Given the description of an element on the screen output the (x, y) to click on. 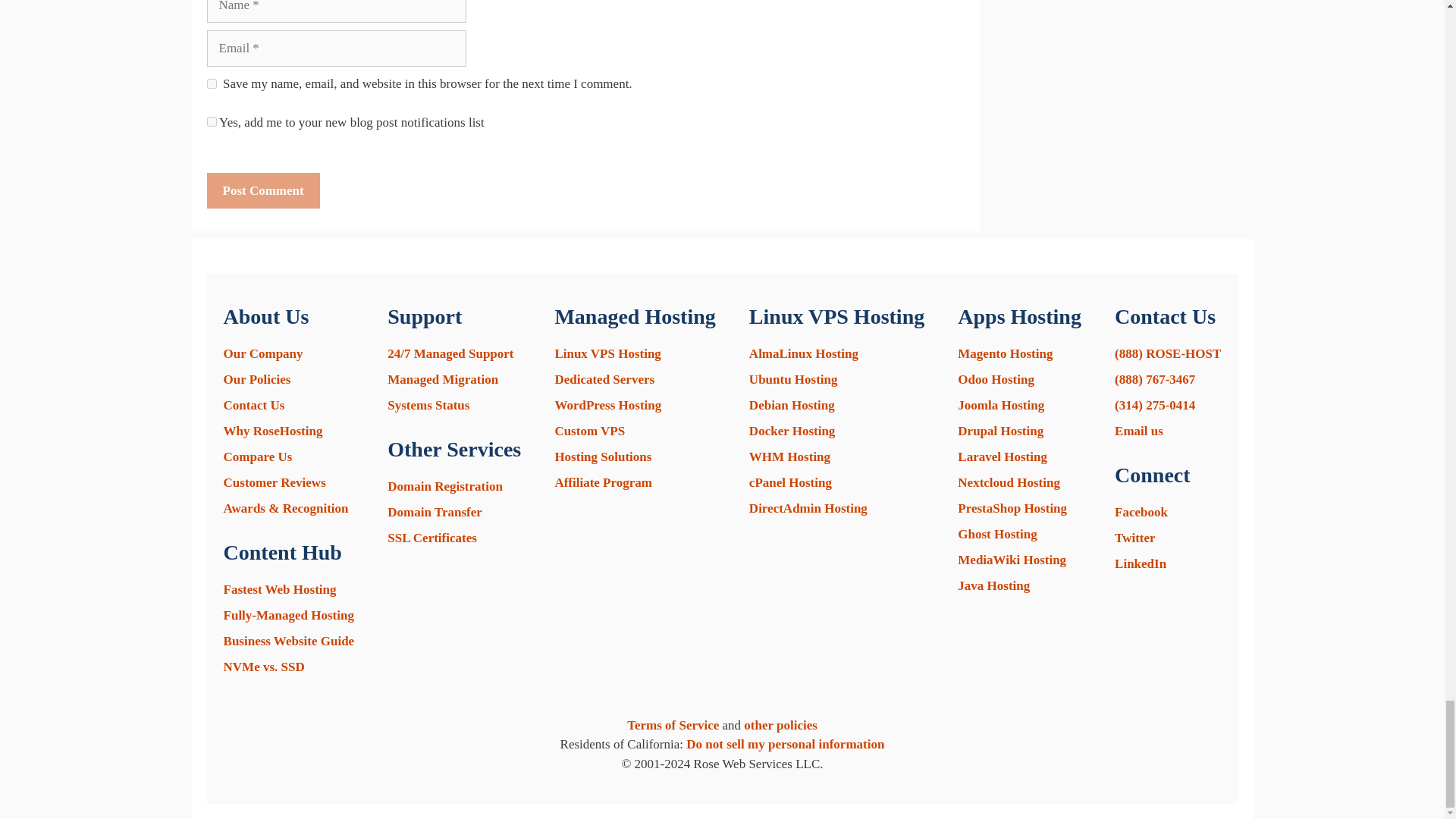
yes (210, 83)
Post Comment (262, 190)
1 (210, 121)
